Given the description of an element on the screen output the (x, y) to click on. 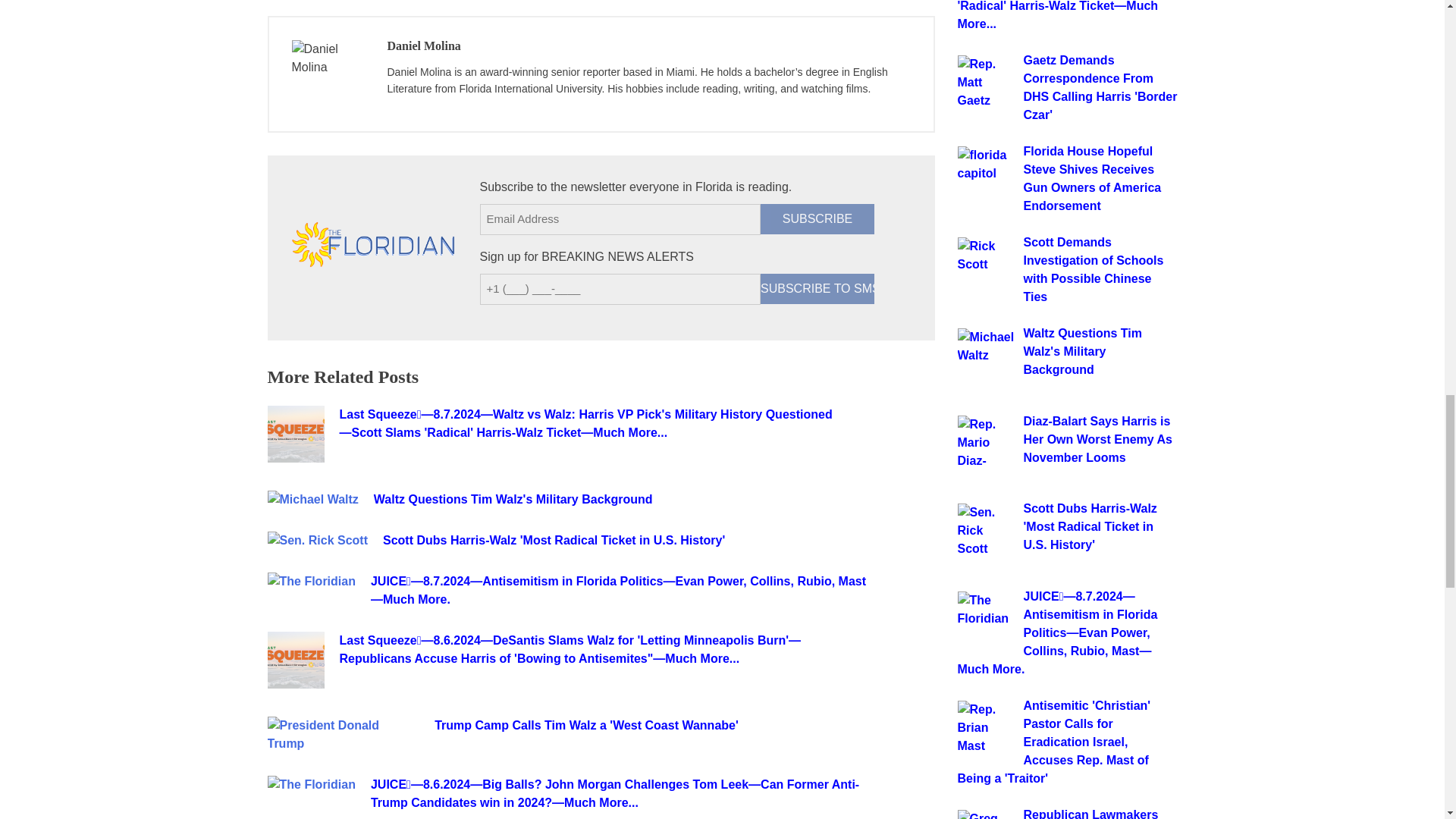
SUBSCRIBE TO SMS (817, 288)
Waltz Questions Tim Walz's Military Background (624, 499)
SUBSCRIBE (817, 218)
SUBSCRIBE TO SMS (817, 288)
SUBSCRIBE (817, 218)
